Given the description of an element on the screen output the (x, y) to click on. 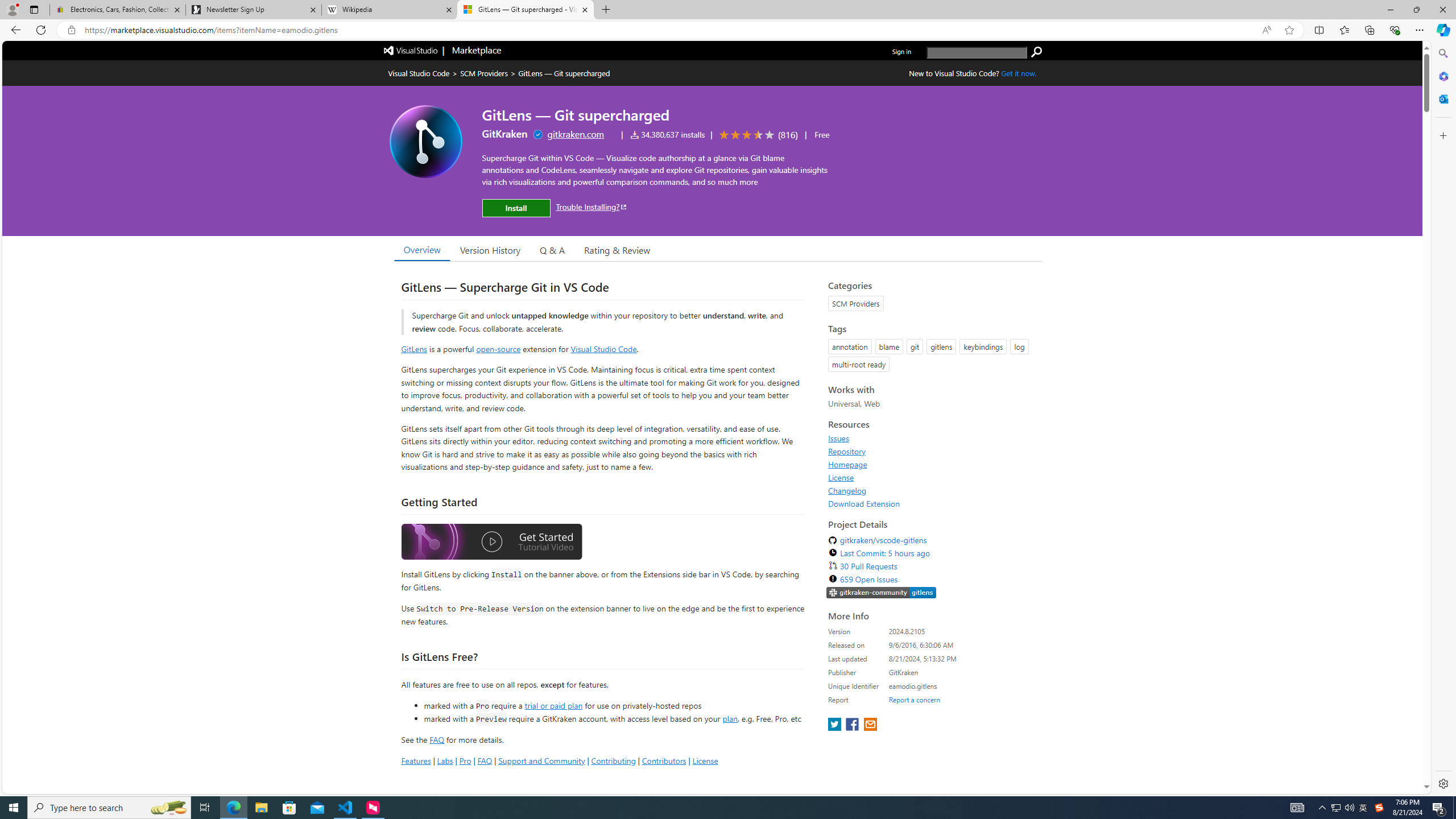
Visual Studio logo (411, 49)
gitkraken.com (575, 133)
GitLens (414, 348)
Newsletter Sign Up (253, 9)
trial or paid plan (553, 704)
Support and Community (541, 760)
Average rating: 3.7 out of 5. Navigate to user reviews. (756, 134)
